Given the description of an element on the screen output the (x, y) to click on. 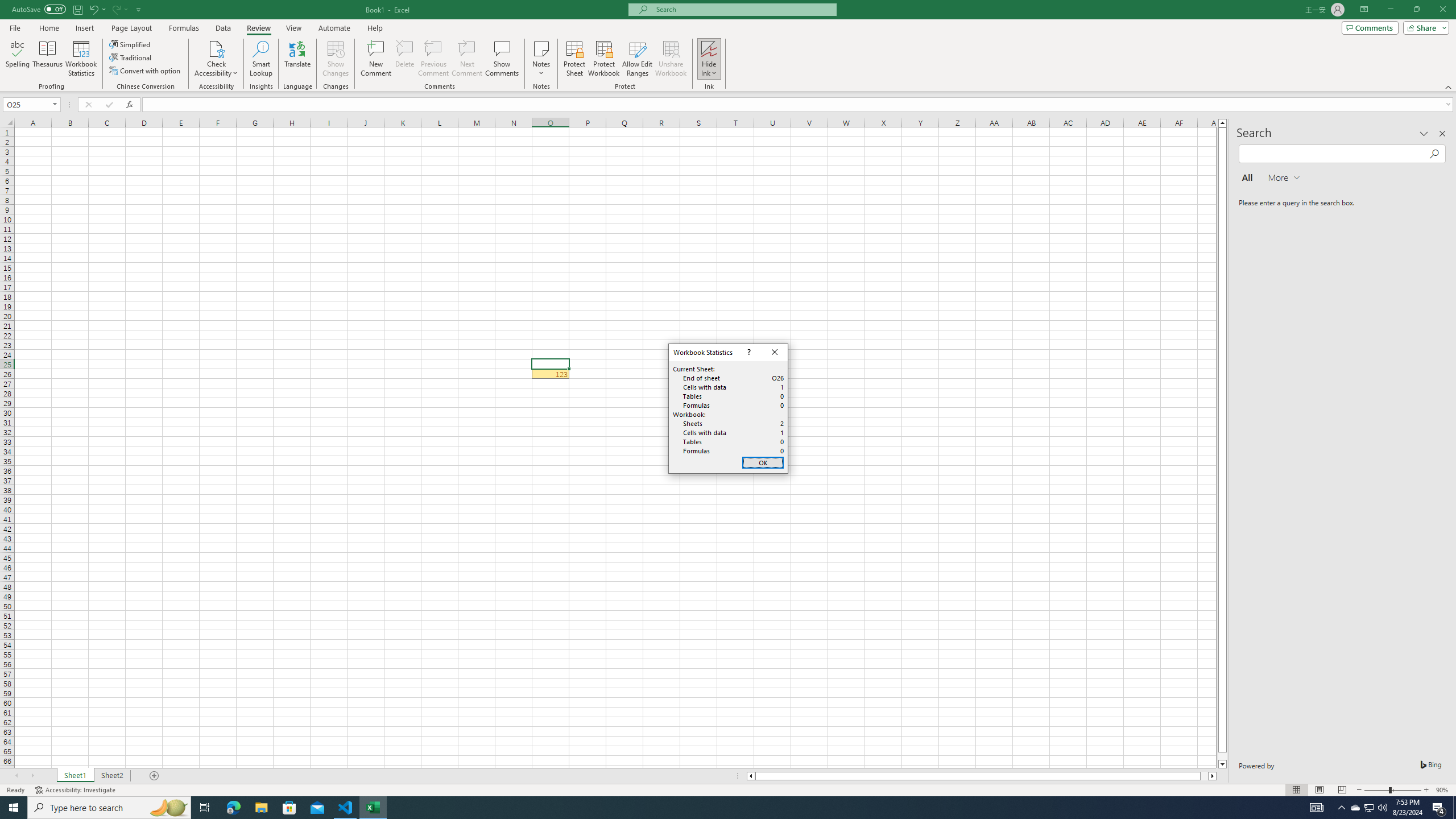
Thesaurus... (47, 58)
Translate (297, 58)
Protect Sheet... (574, 58)
AutomationID: 4105 (1316, 807)
Show Comments (501, 58)
